Given the description of an element on the screen output the (x, y) to click on. 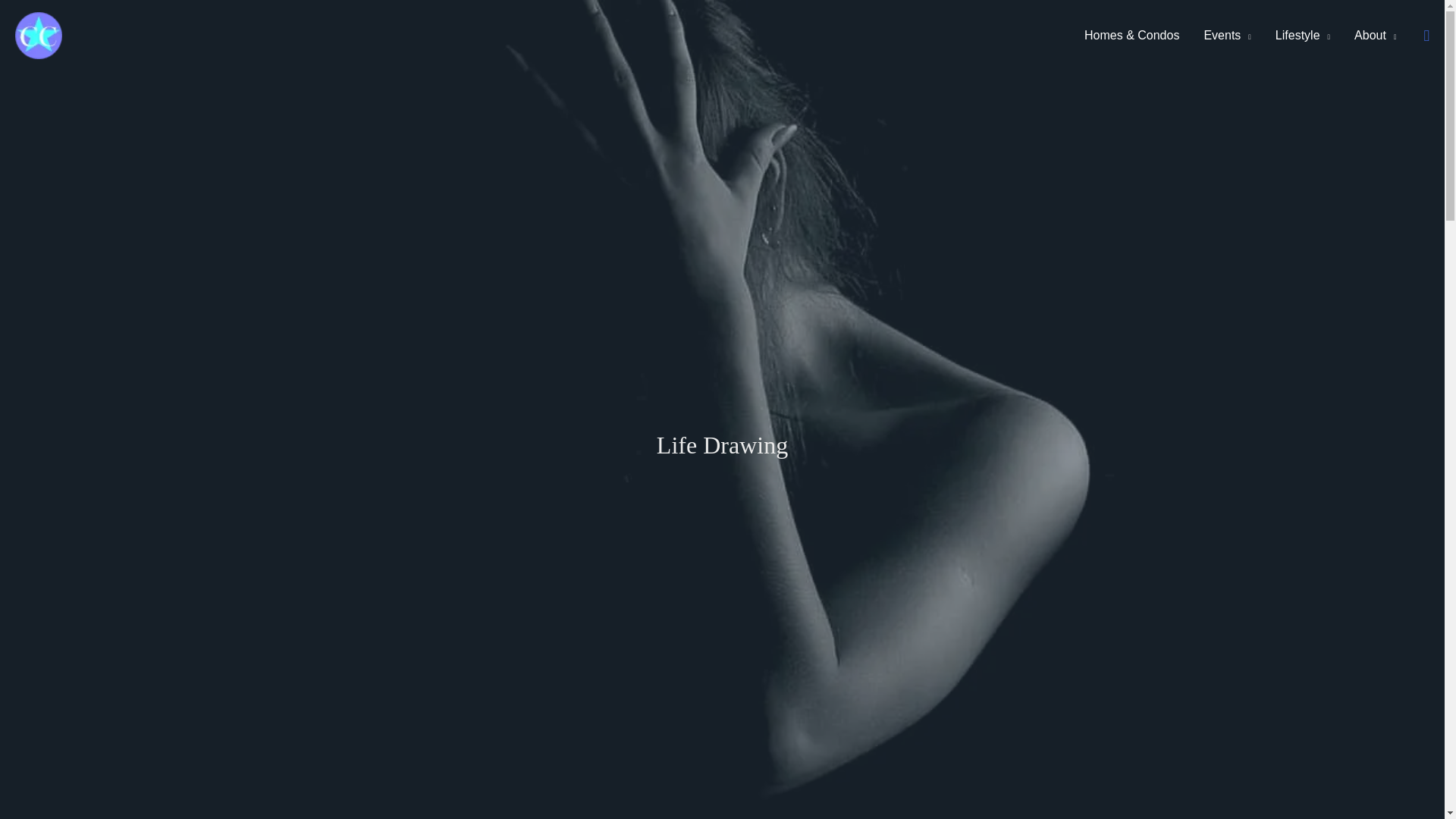
Events (1226, 35)
About (1374, 35)
Lifestyle (1302, 35)
